Given the description of an element on the screen output the (x, y) to click on. 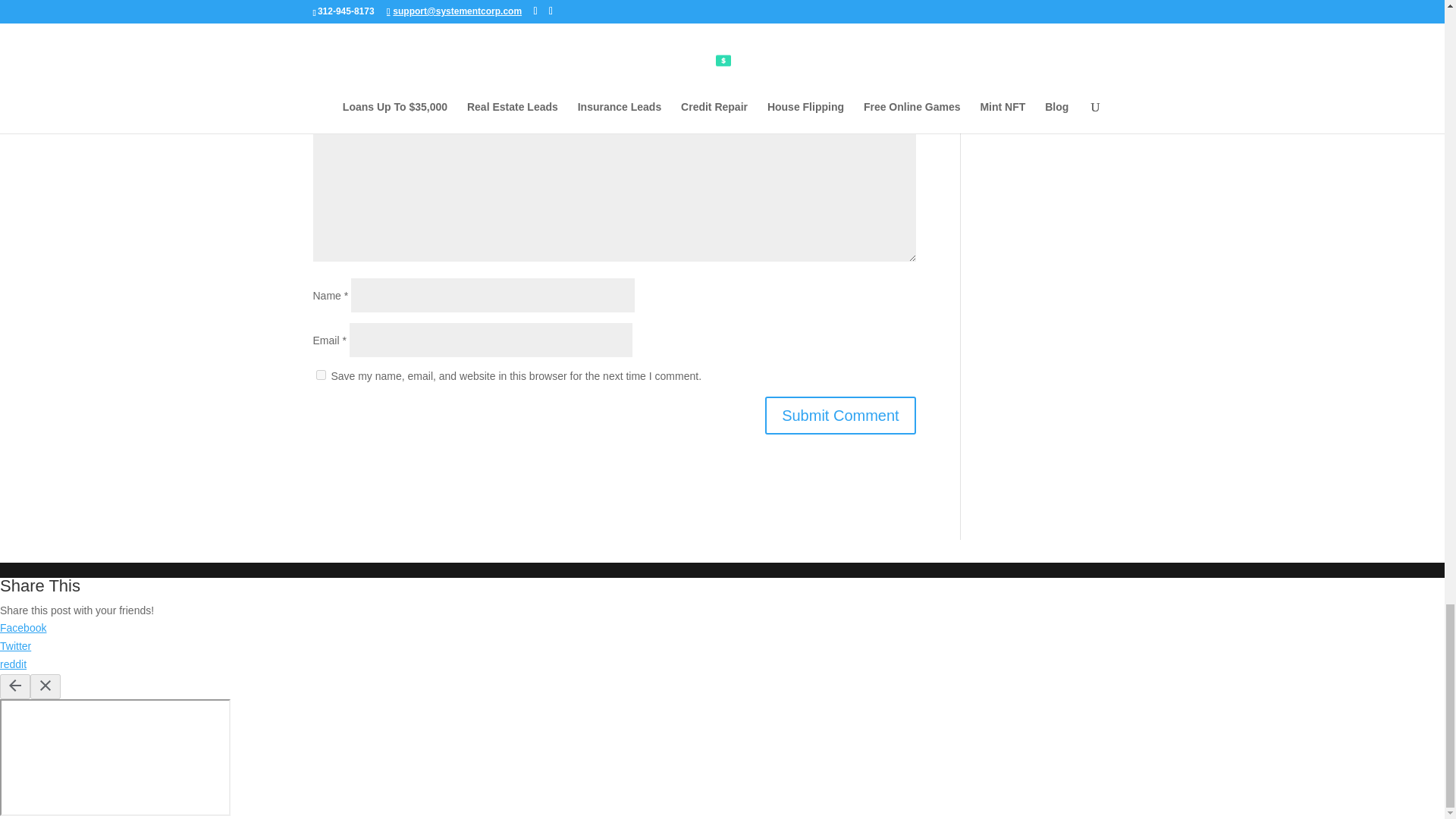
yes (319, 375)
Submit Comment (840, 415)
Submit Comment (840, 415)
